Given the description of an element on the screen output the (x, y) to click on. 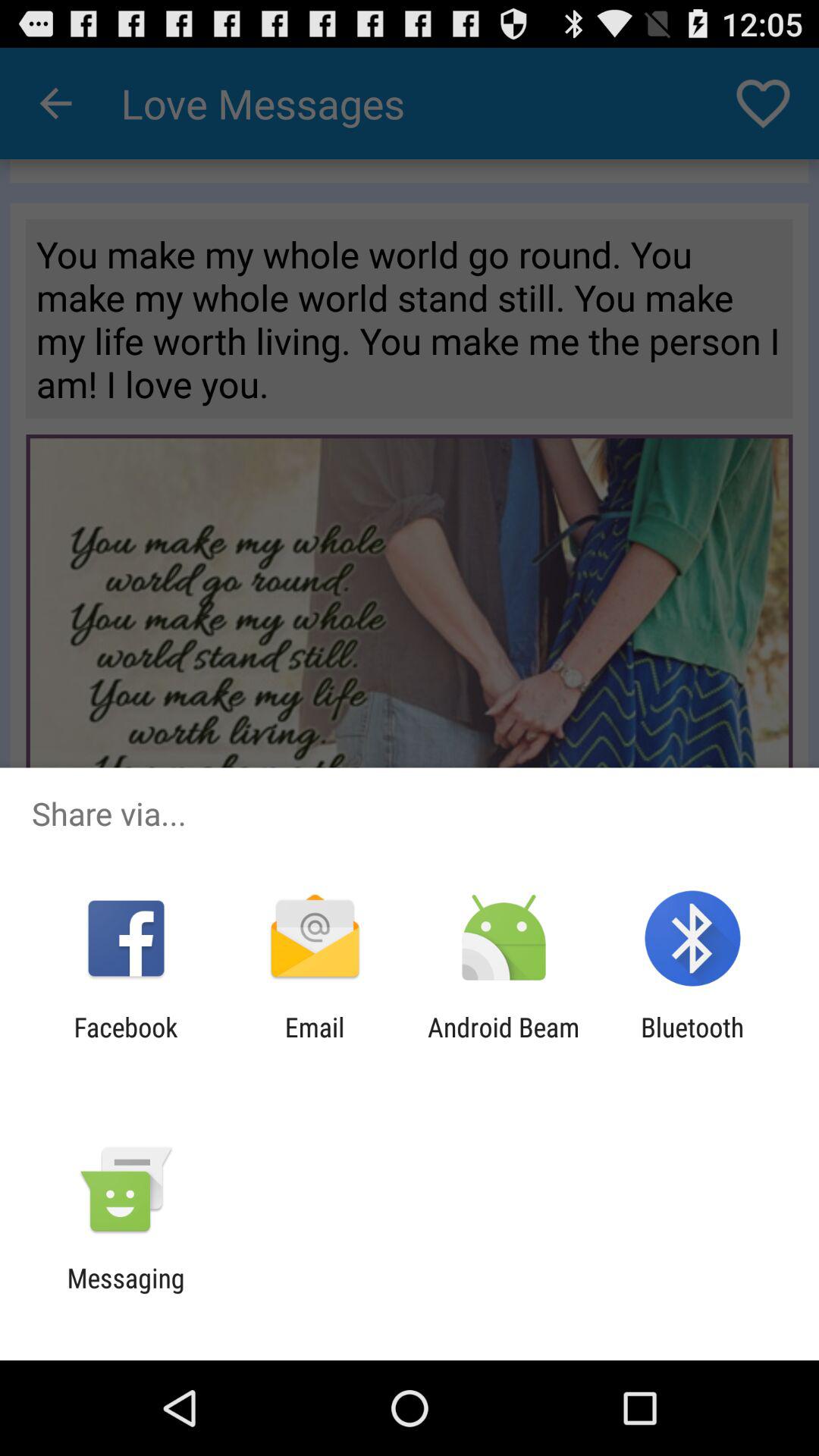
choose the item next to the android beam item (691, 1042)
